Given the description of an element on the screen output the (x, y) to click on. 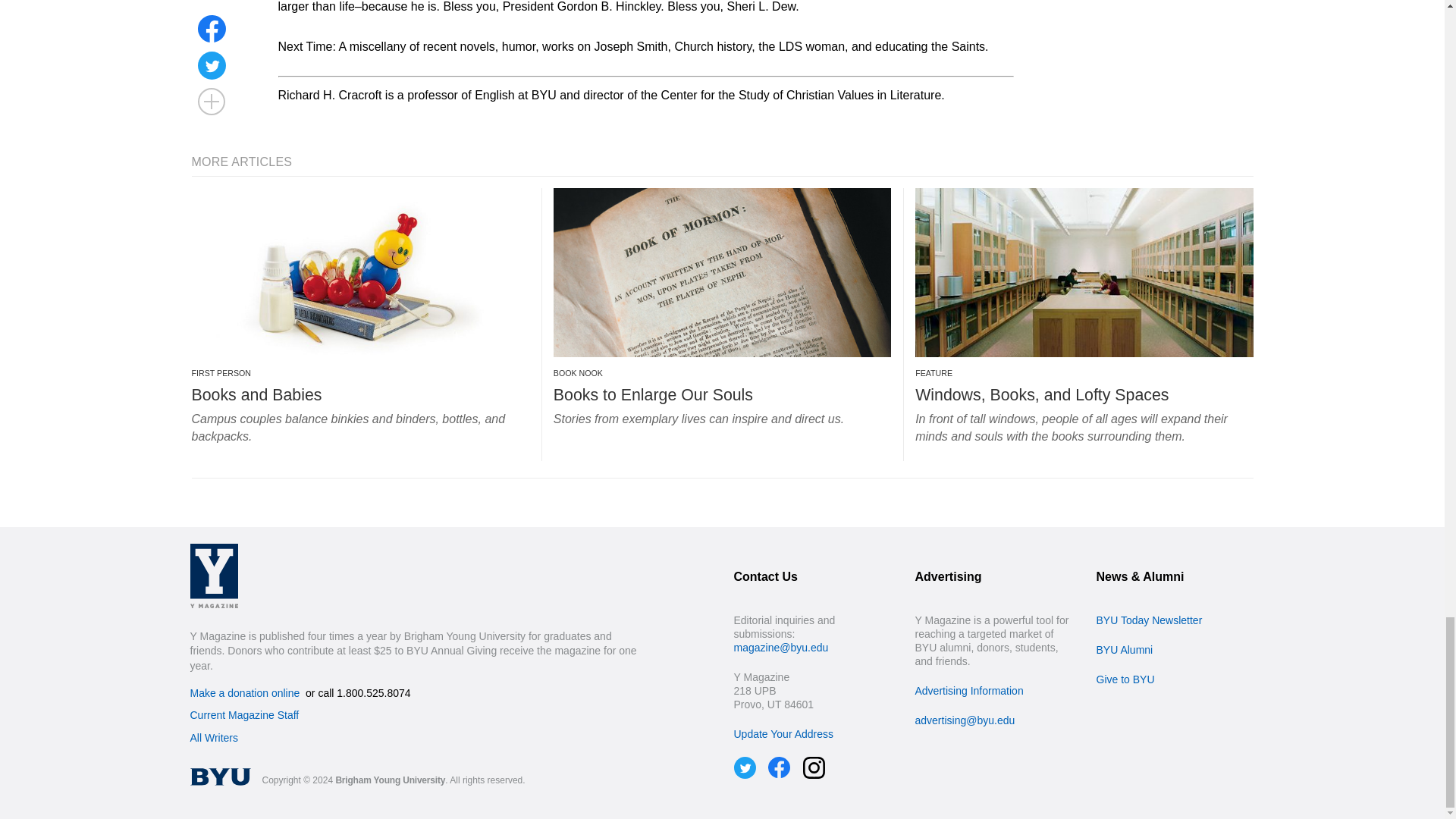
Current Magazine Staff (243, 715)
Make a donation online (244, 693)
